Given the description of an element on the screen output the (x, y) to click on. 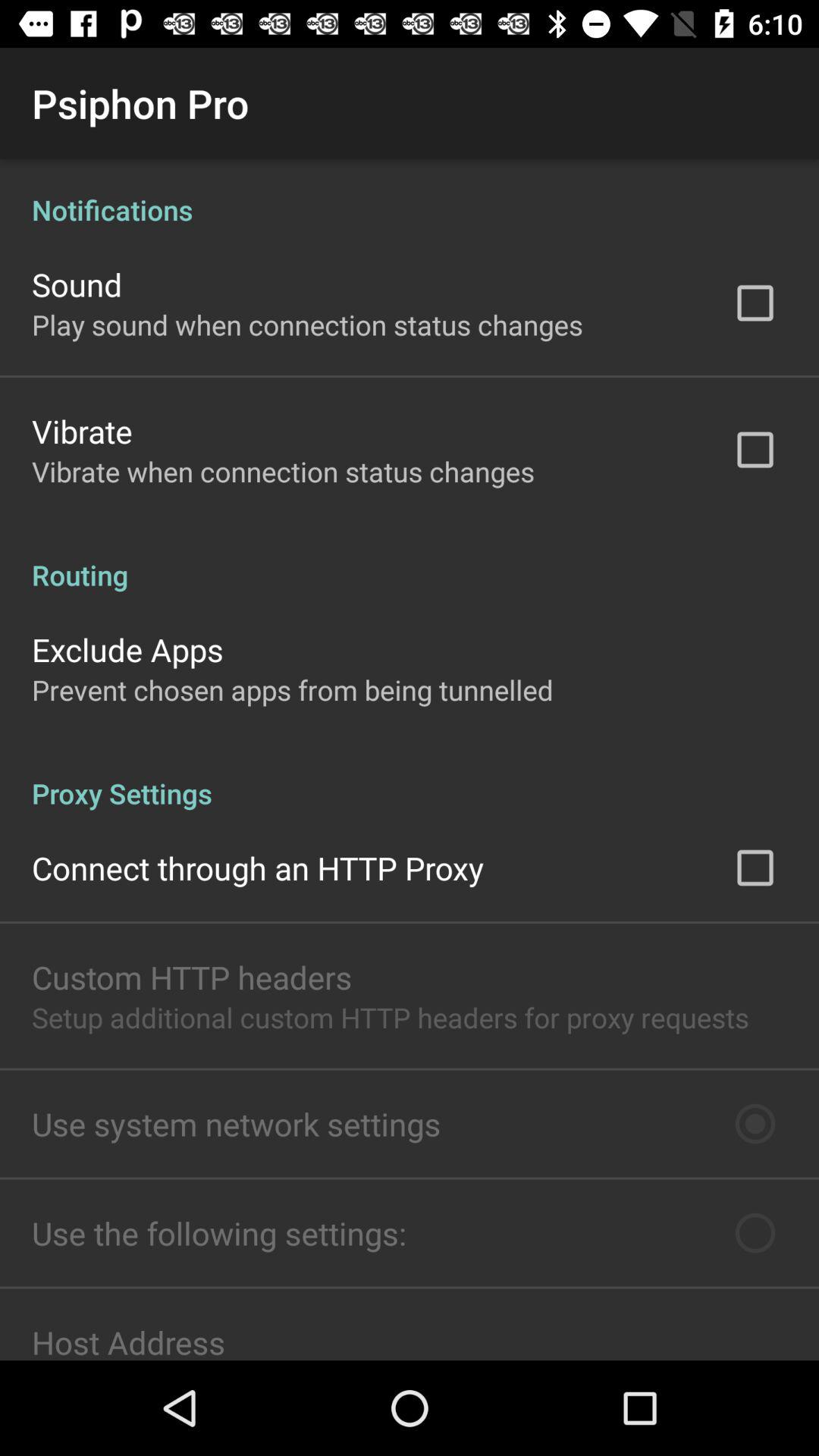
click app above the custom http headers app (257, 867)
